Given the description of an element on the screen output the (x, y) to click on. 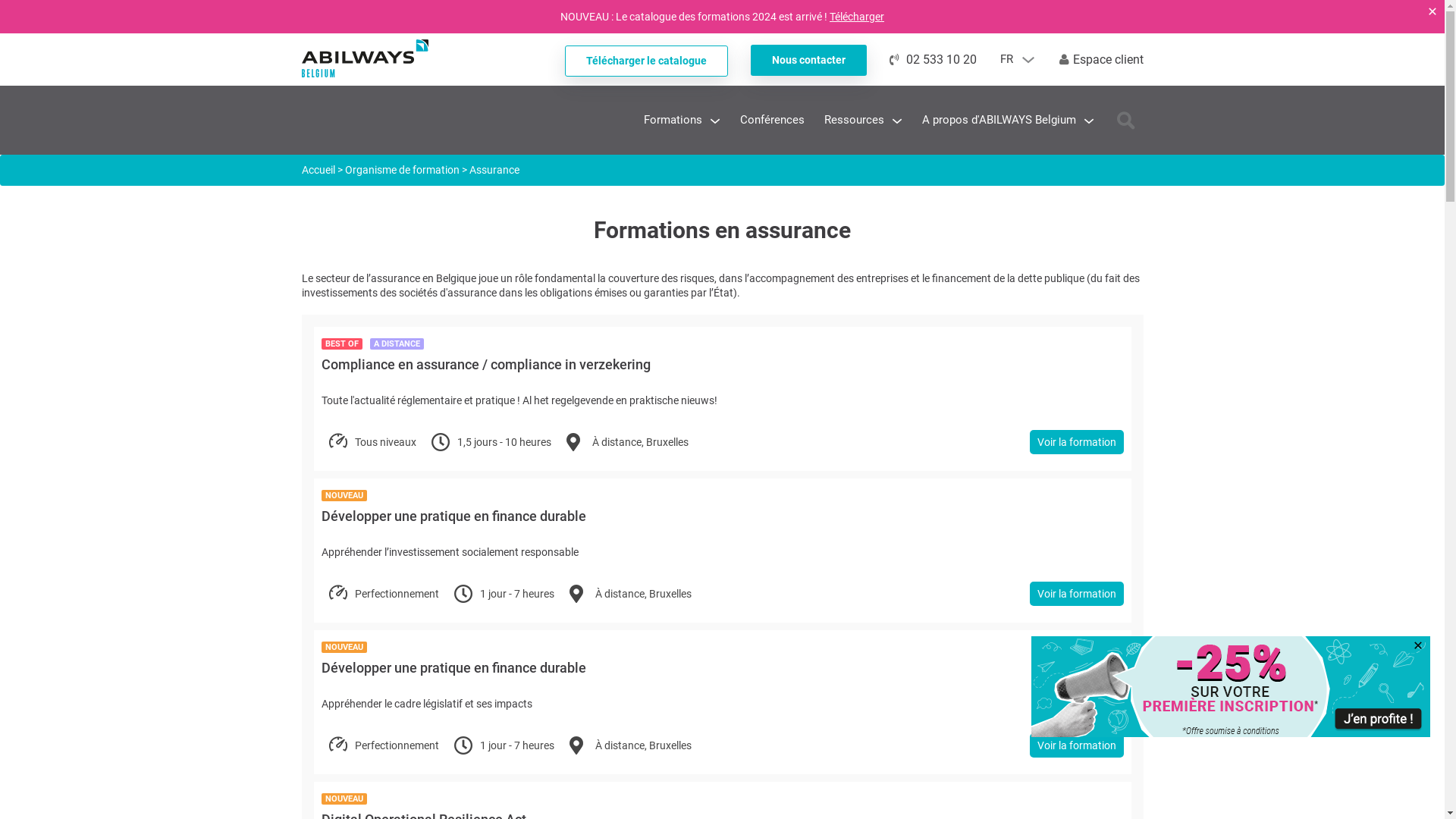
Organisme de formation Element type: text (401, 169)
Aller au contenu principal Element type: text (0, 0)
Formations Element type: text (672, 119)
Espace client Element type: text (1100, 59)
02 533 10 20 Element type: text (932, 59)
Nous contacter Element type: text (808, 59)
Ressources Element type: text (853, 119)
Accueil Element type: text (318, 169)
Accueil Element type: hover (365, 70)
A propos d'ABILWAYS Belgium Element type: text (999, 119)
